Given the description of an element on the screen output the (x, y) to click on. 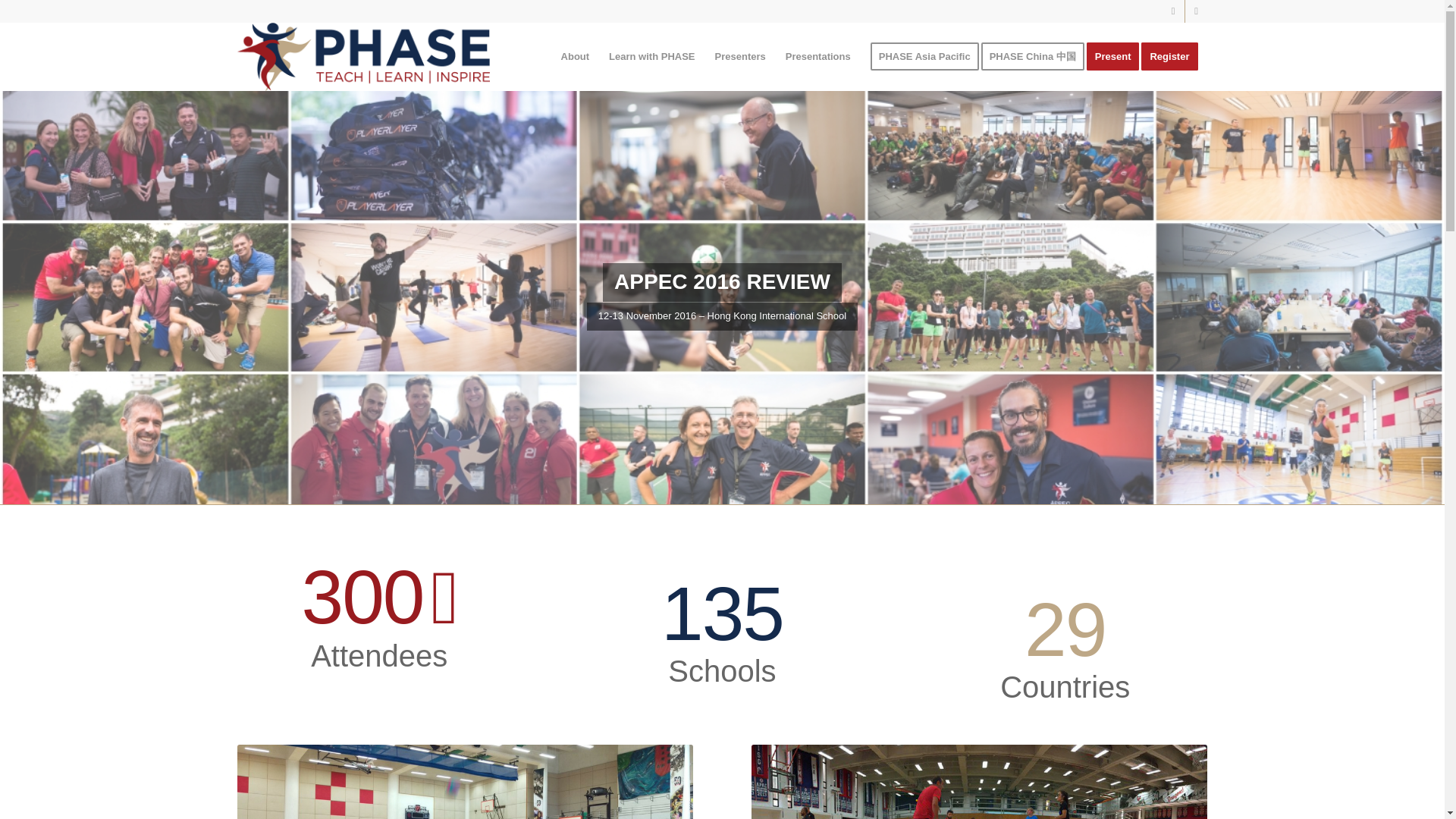
Present (1118, 56)
Learn with PHASE (651, 56)
5 (979, 781)
X (1172, 11)
Facebook (1196, 11)
Presentations (818, 56)
PHASE Asia Pacific (924, 56)
Register (1174, 56)
6 (464, 781)
phase logo (362, 56)
Presenters (740, 56)
